Given the description of an element on the screen output the (x, y) to click on. 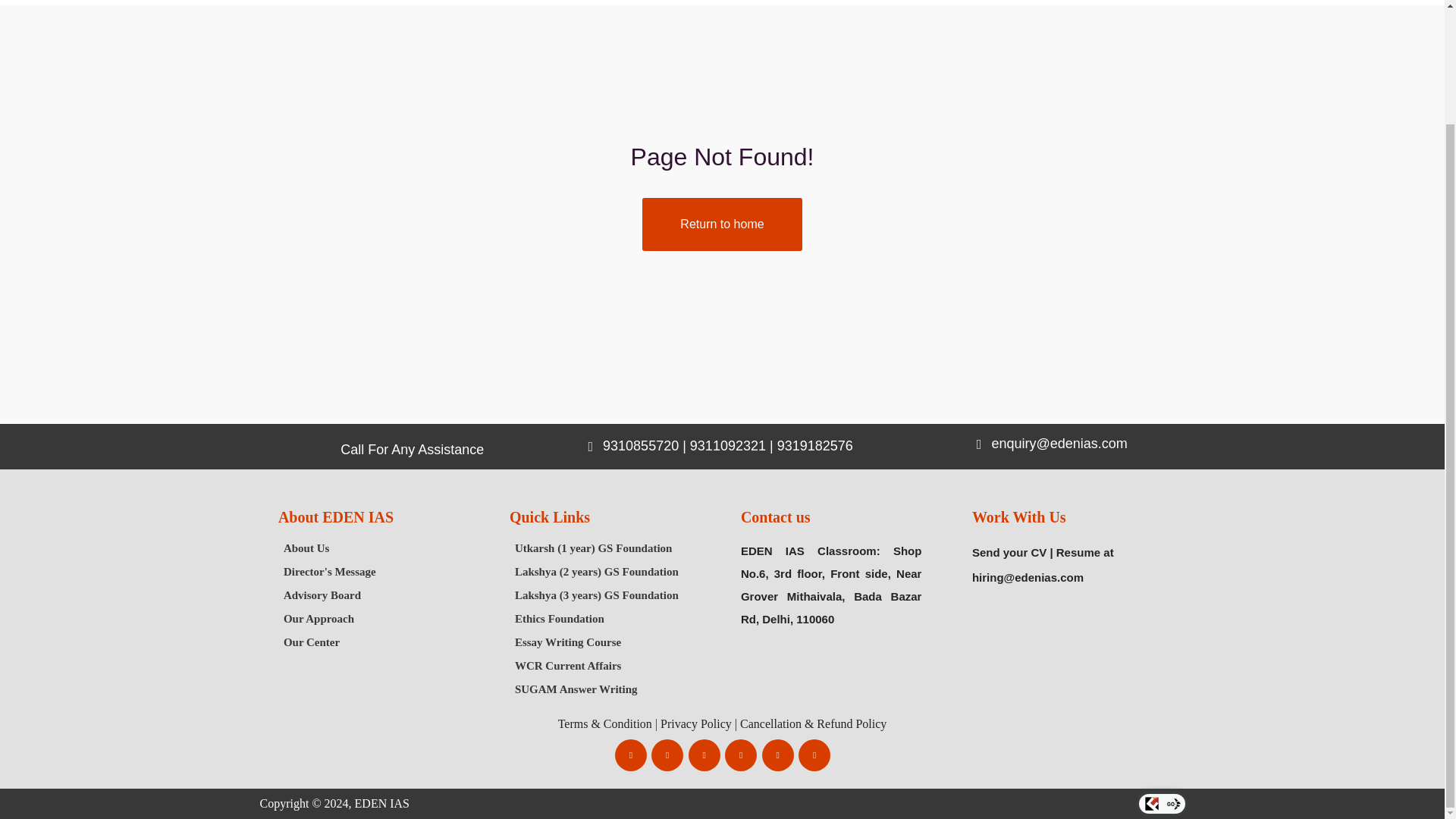
HOME (259, 2)
Digital Marketing Agency (1151, 808)
ABOUT US (338, 2)
Digital Marketing Platform (1173, 808)
COURSES (427, 2)
